Given the description of an element on the screen output the (x, y) to click on. 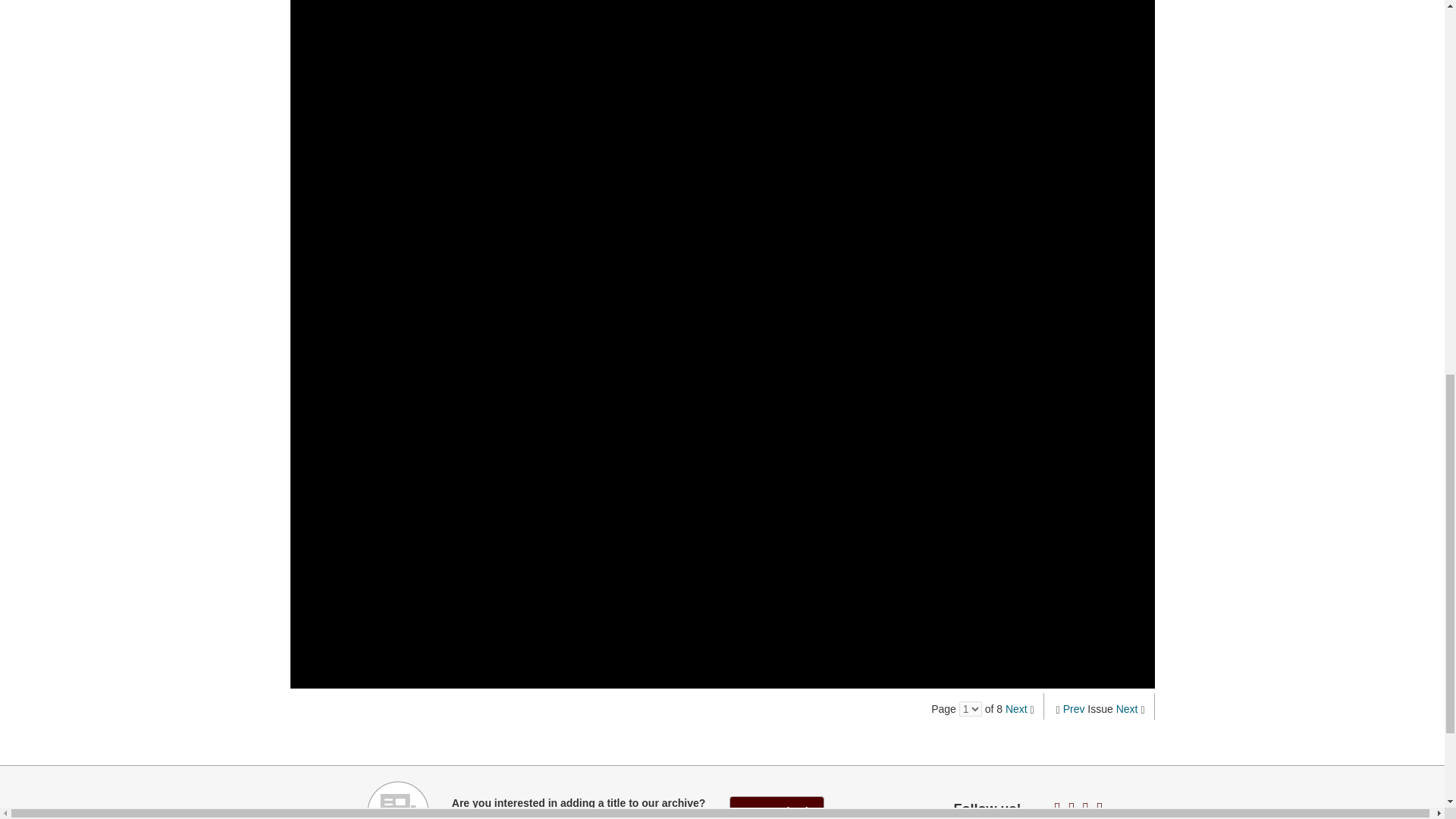
Get Involved (776, 807)
Next (1127, 708)
Next (1016, 708)
Prev (1073, 708)
